Given the description of an element on the screen output the (x, y) to click on. 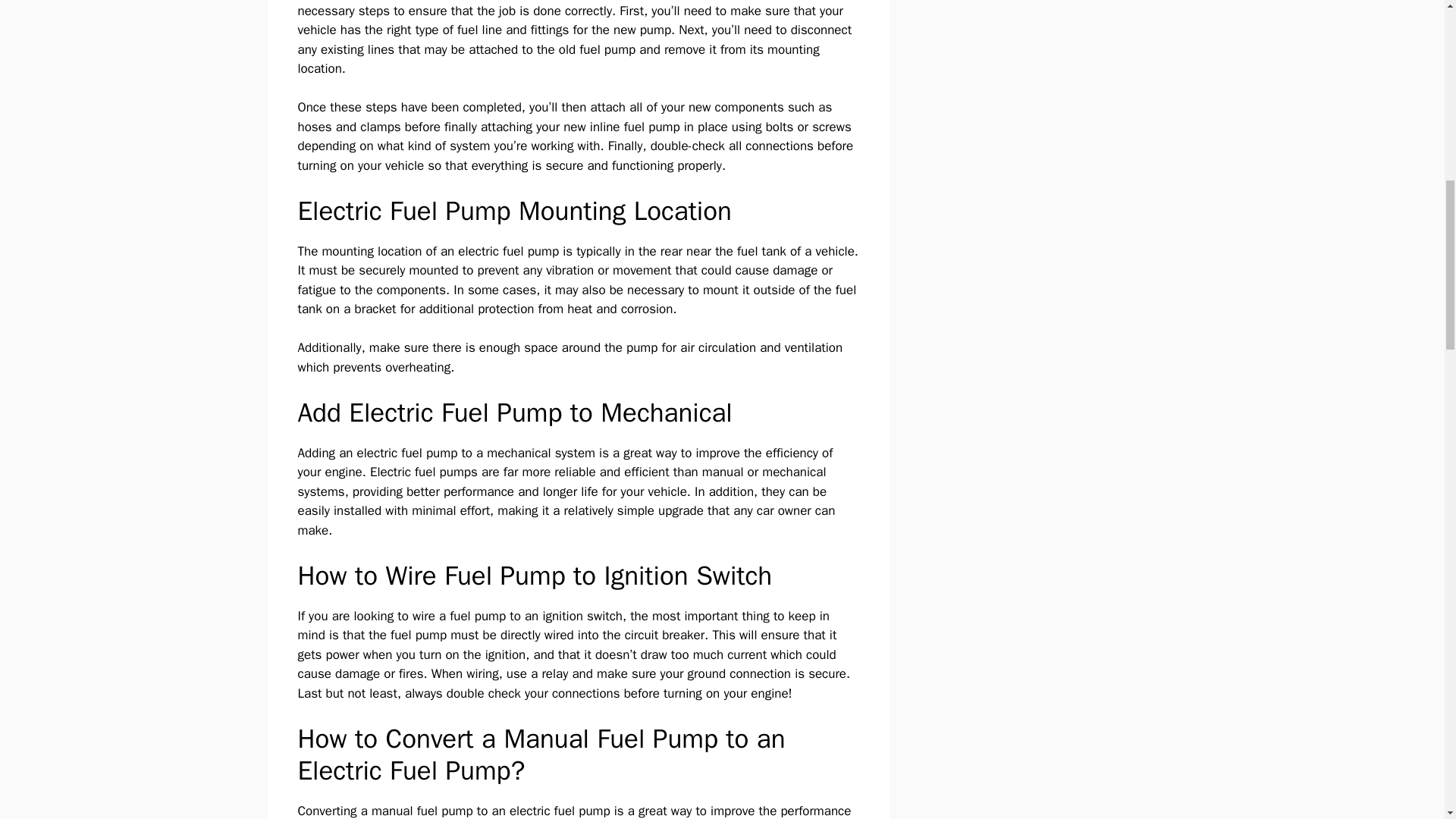
Scroll back to top (1406, 720)
